Given the description of an element on the screen output the (x, y) to click on. 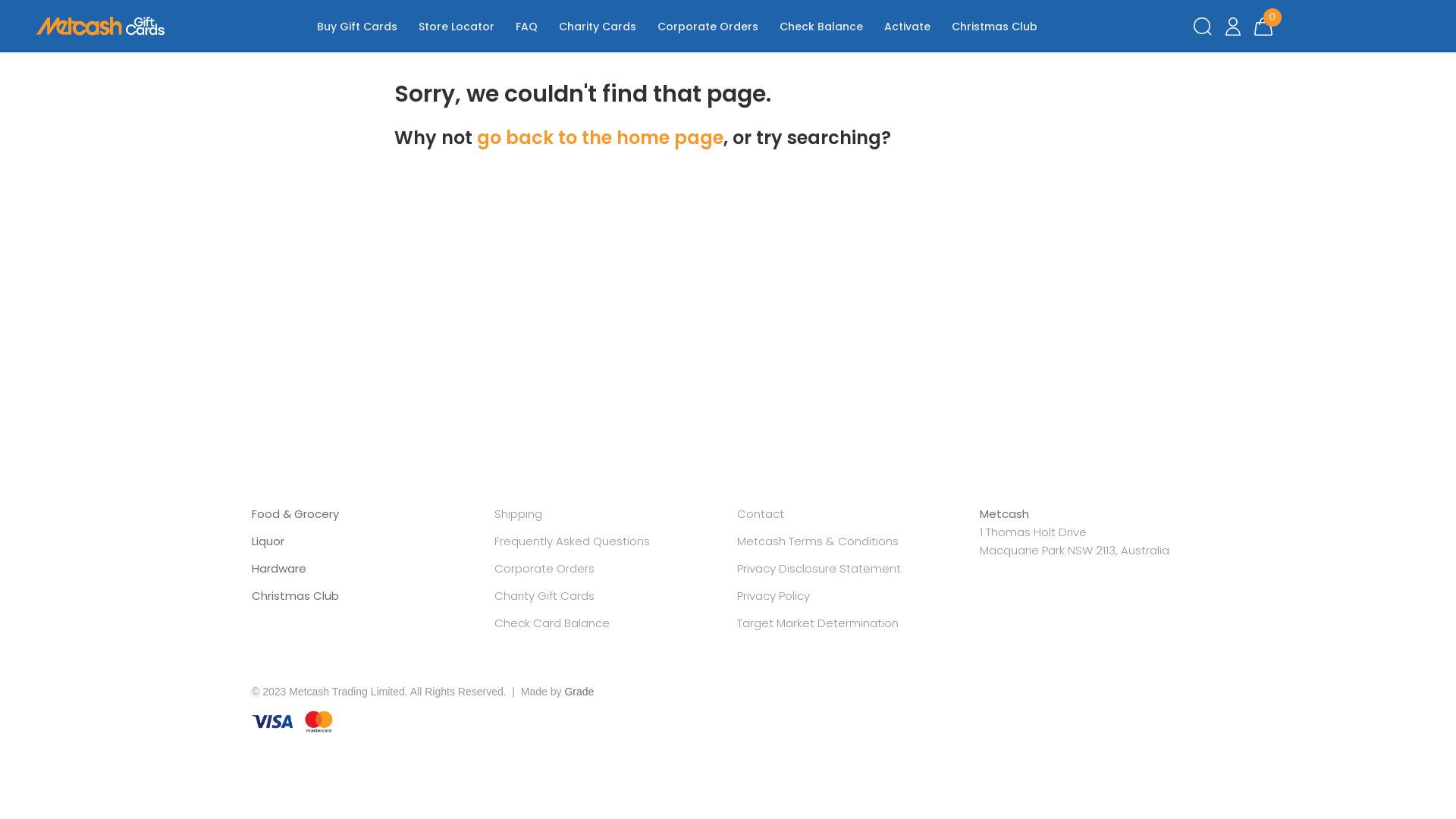
Metcash Gift Cards Element type: hover (100, 25)
Hardware Element type: text (278, 568)
Corporate Orders Element type: text (544, 568)
Target Market Determination Element type: text (817, 622)
Contact Element type: text (760, 513)
Check Card Balance Element type: text (551, 622)
Charity Gift Cards Element type: text (544, 595)
0 Element type: text (1263, 26)
Liquor Element type: text (267, 541)
Privacy Disclosure Statement Element type: text (818, 568)
Food & Grocery Element type: text (294, 513)
Shipping Element type: text (518, 513)
Metcash Terms & Conditions Element type: text (817, 541)
Grade Element type: text (578, 691)
Frequently Asked Questions Element type: text (571, 541)
go back to the home page Element type: text (599, 137)
Privacy Policy Element type: text (773, 595)
Christmas Club Element type: text (294, 595)
